Given the description of an element on the screen output the (x, y) to click on. 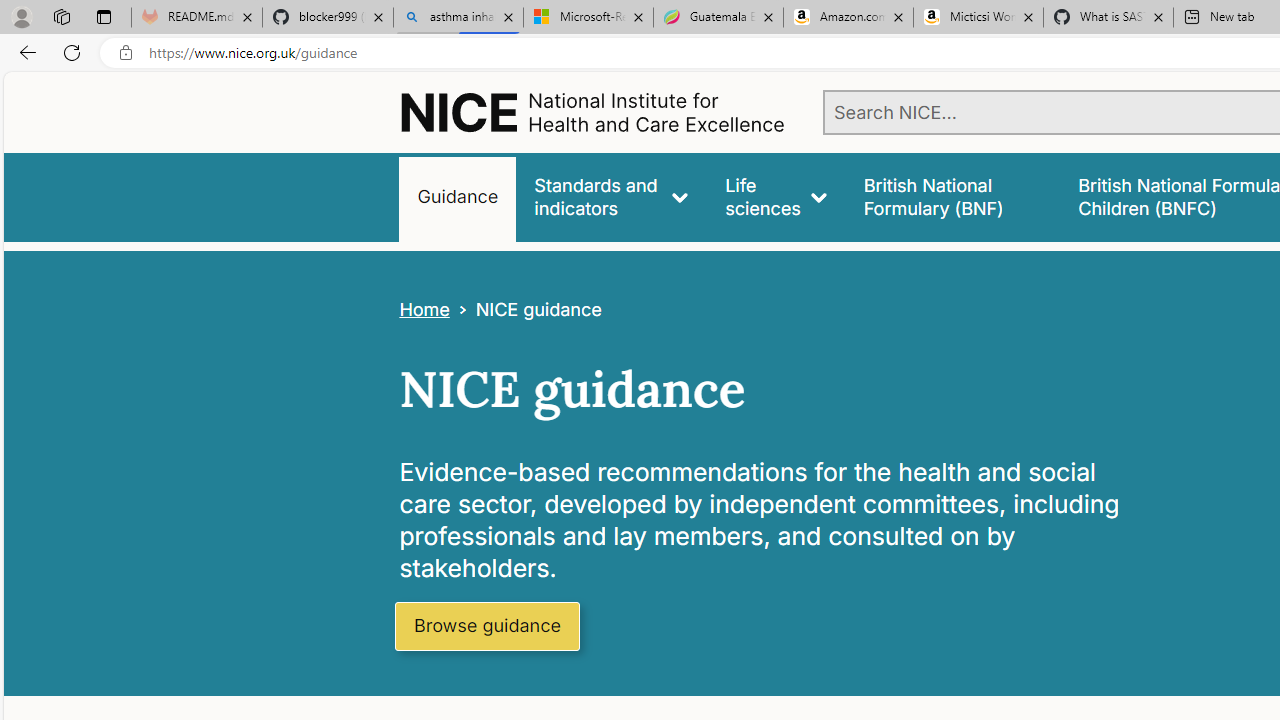
Home (424, 309)
Home (424, 309)
Workspaces (61, 16)
false (952, 196)
Microsoft-Report a Concern to Bing (587, 17)
>NICE guidance (525, 309)
